Given the description of an element on the screen output the (x, y) to click on. 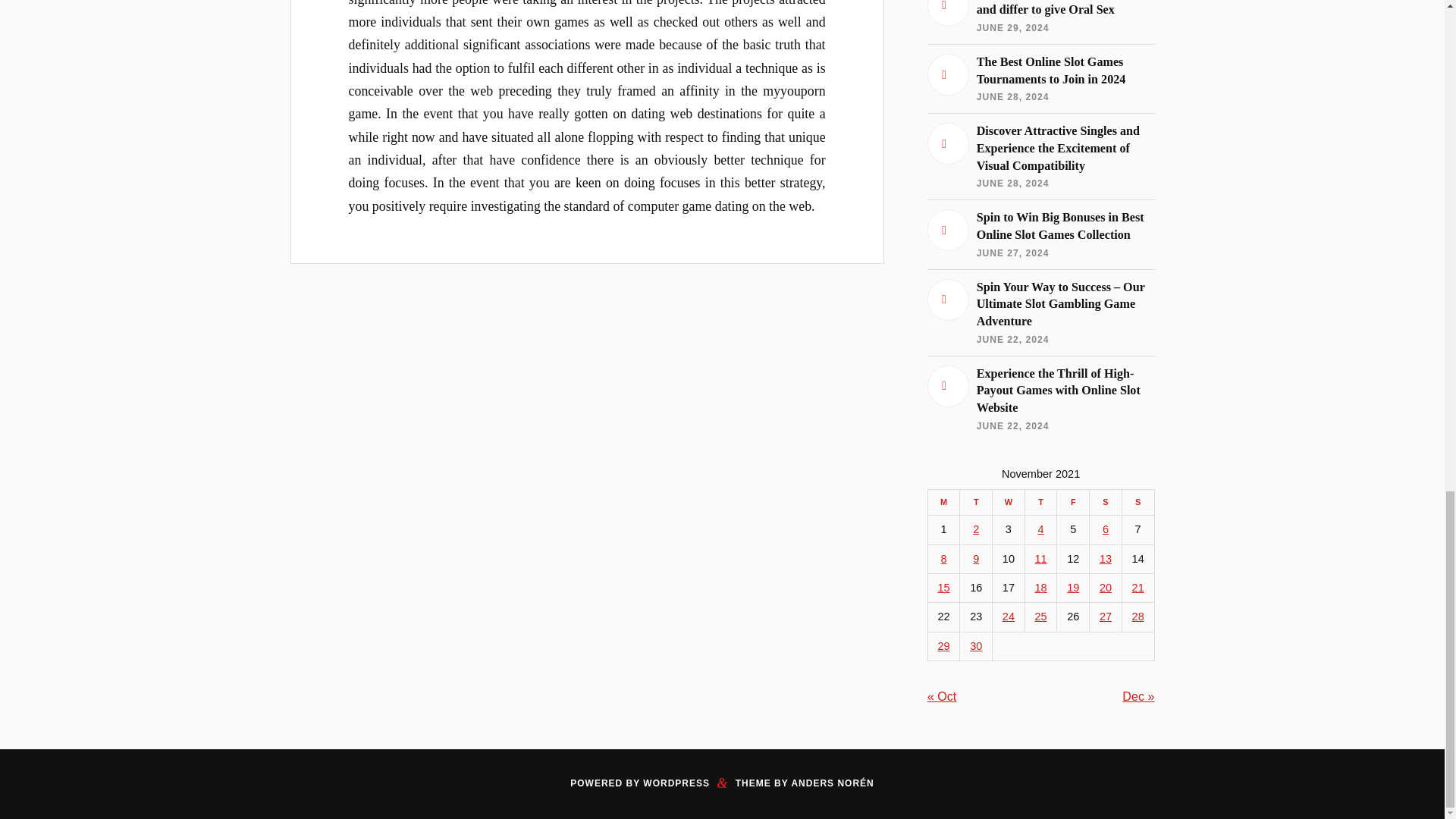
Thursday (1041, 502)
Wednesday (1008, 502)
Sunday (1137, 502)
Saturday (1105, 502)
Friday (1073, 502)
Tuesday (975, 502)
Monday (943, 502)
